Given the description of an element on the screen output the (x, y) to click on. 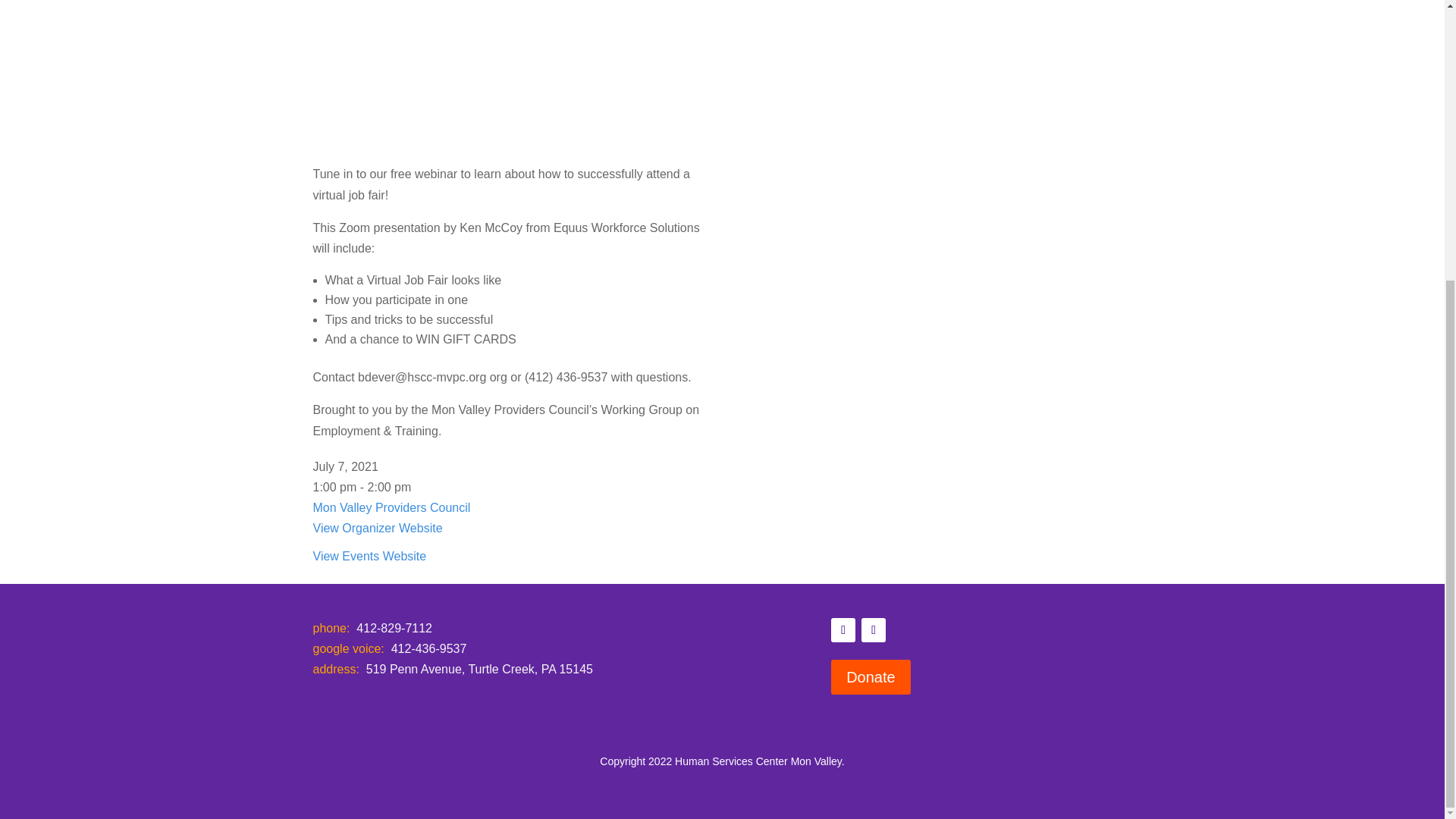
Follow on Facebook (843, 630)
View Organizer Website (377, 527)
Mon Valley Providers Council (391, 507)
View Events Website (369, 555)
Follow on Youtube (873, 630)
